Given the description of an element on the screen output the (x, y) to click on. 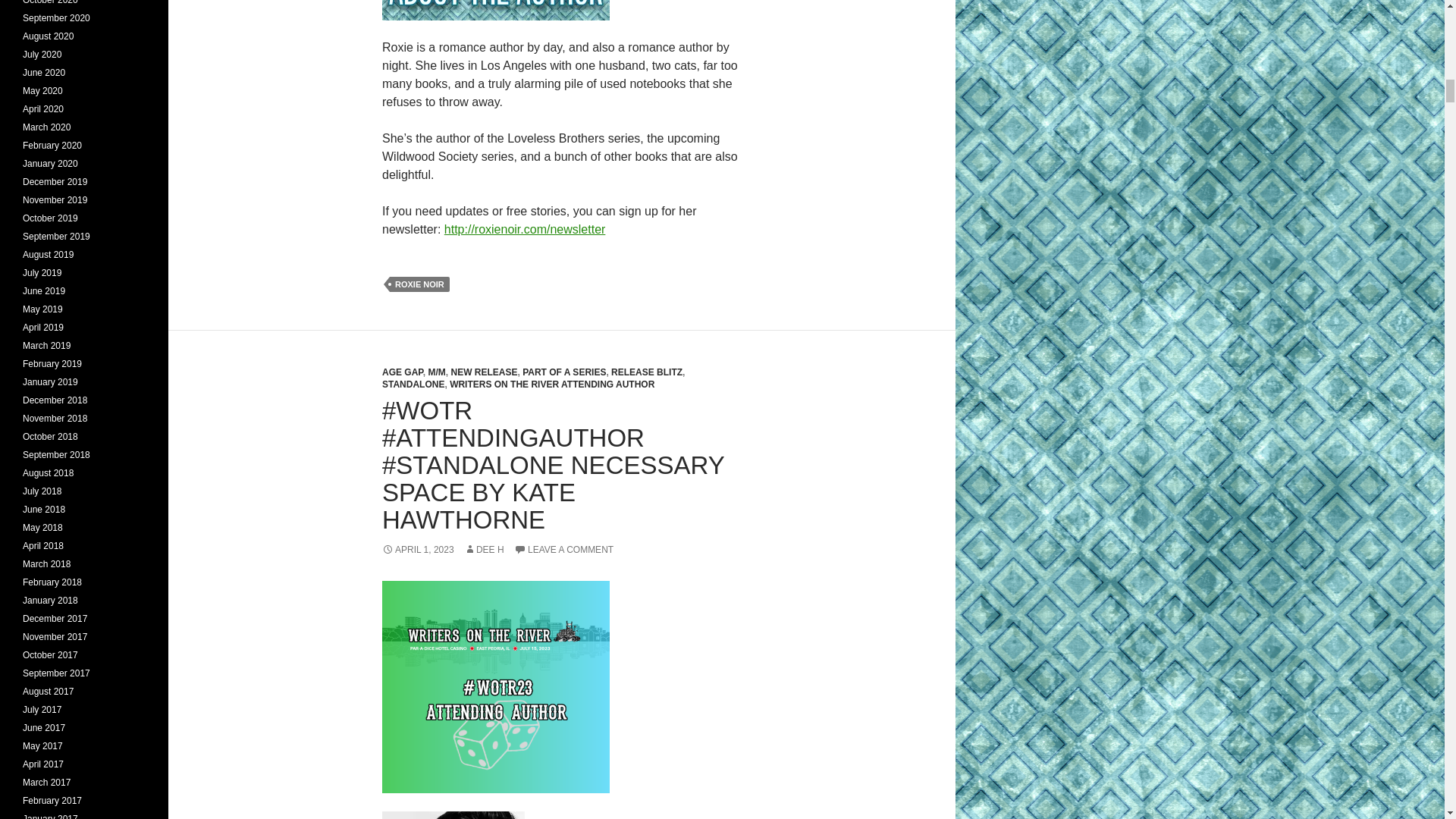
APRIL 1, 2023 (417, 549)
RELEASE BLITZ (646, 371)
DEE H (483, 549)
ROXIE NOIR (419, 283)
NEW RELEASE (482, 371)
STANDALONE (412, 384)
AGE GAP (402, 371)
PART OF A SERIES (563, 371)
LEAVE A COMMENT (562, 549)
WRITERS ON THE RIVER ATTENDING AUTHOR (551, 384)
